Given the description of an element on the screen output the (x, y) to click on. 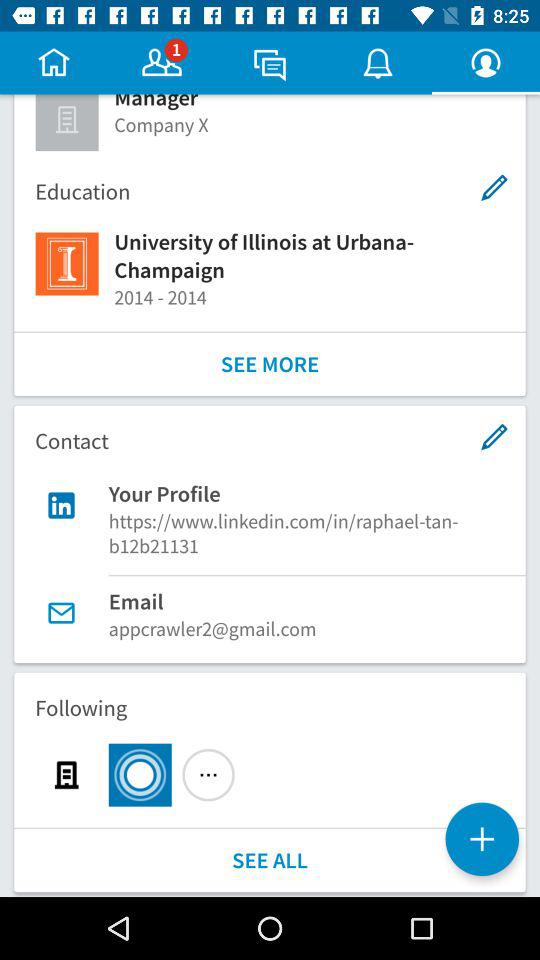
press icon at the bottom right corner (482, 839)
